Given the description of an element on the screen output the (x, y) to click on. 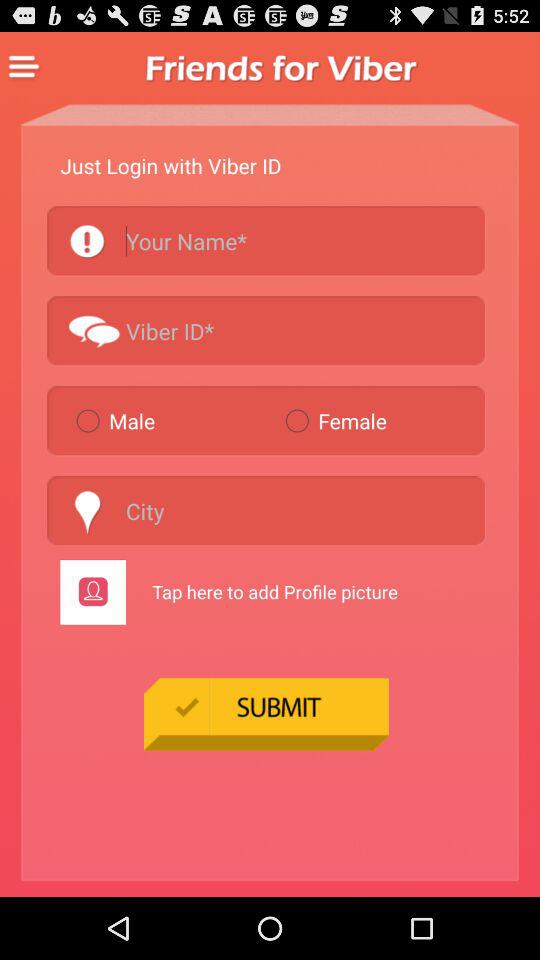
turn on the icon next to the female icon (171, 420)
